Given the description of an element on the screen output the (x, y) to click on. 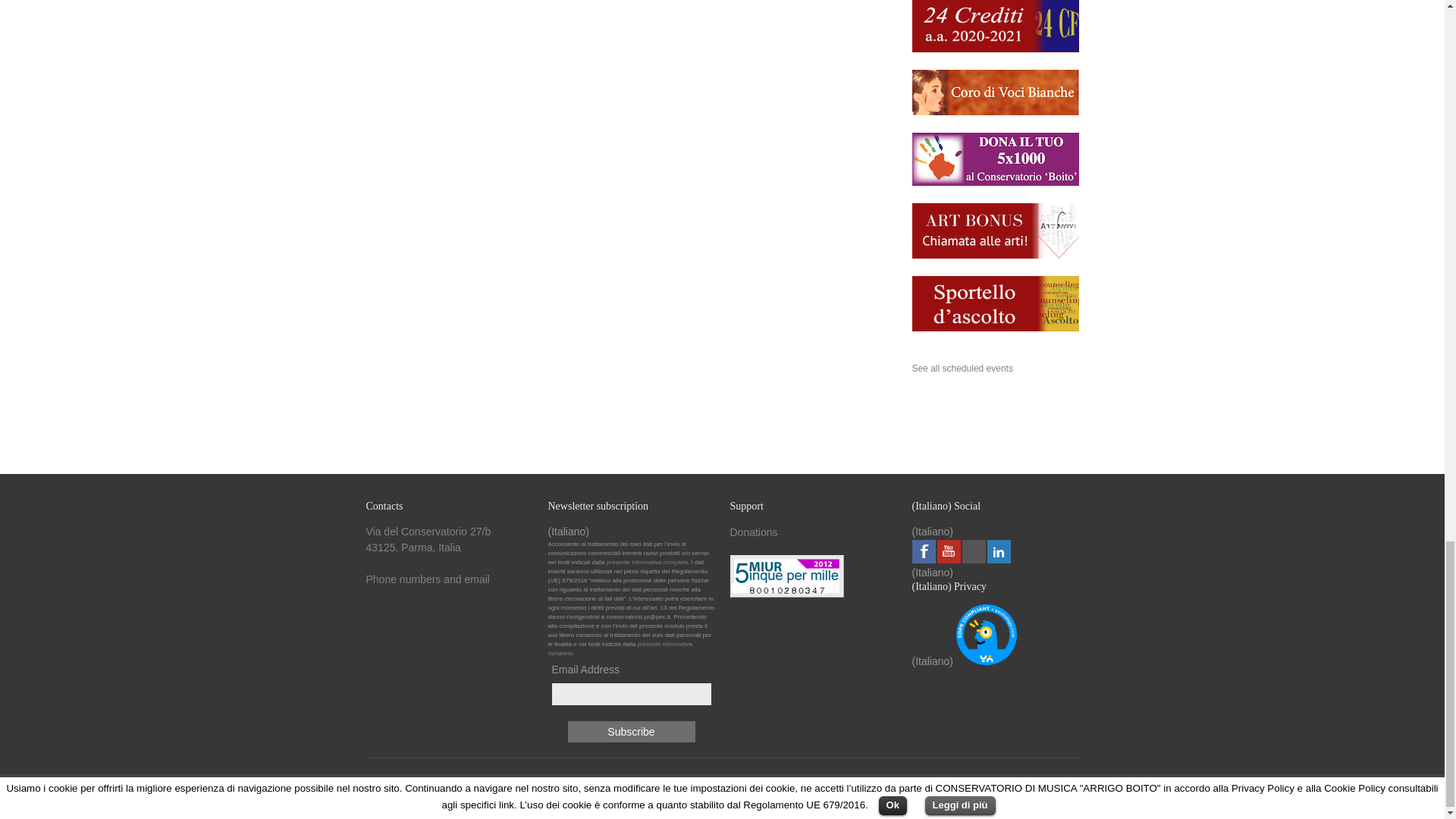
Facebook (922, 551)
Linkedin (998, 551)
Subscribe (630, 731)
Instagram (972, 551)
Coro di voci bianche (994, 112)
Youtube (948, 551)
